Given the description of an element on the screen output the (x, y) to click on. 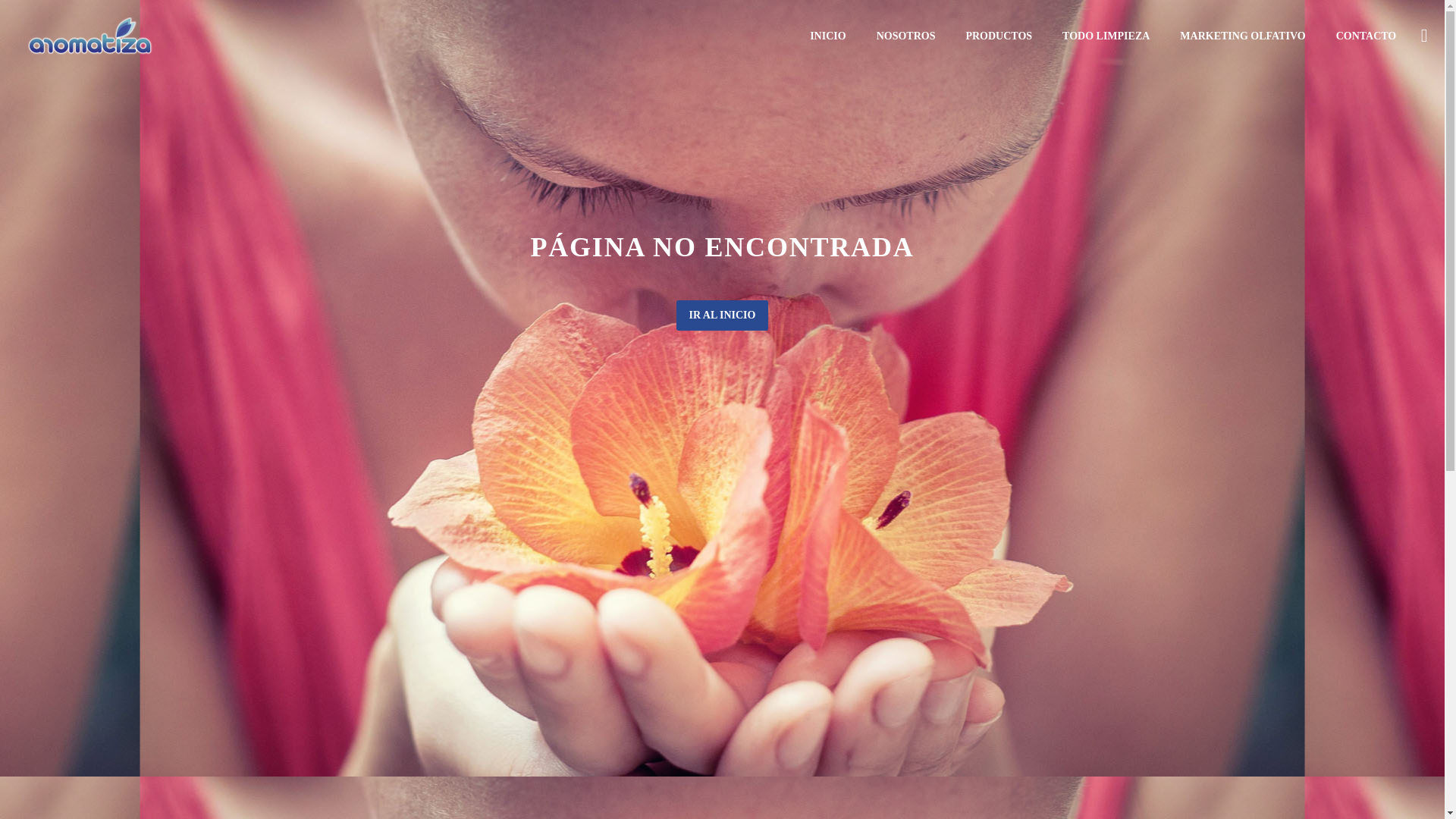
TODO LIMPIEZA (1105, 36)
PRODUCTOS (998, 36)
IR AL INICIO (722, 315)
NOSOTROS (905, 36)
MARKETING OLFATIVO (1242, 36)
CONTACTO (1366, 36)
INICIO (827, 36)
